Given the description of an element on the screen output the (x, y) to click on. 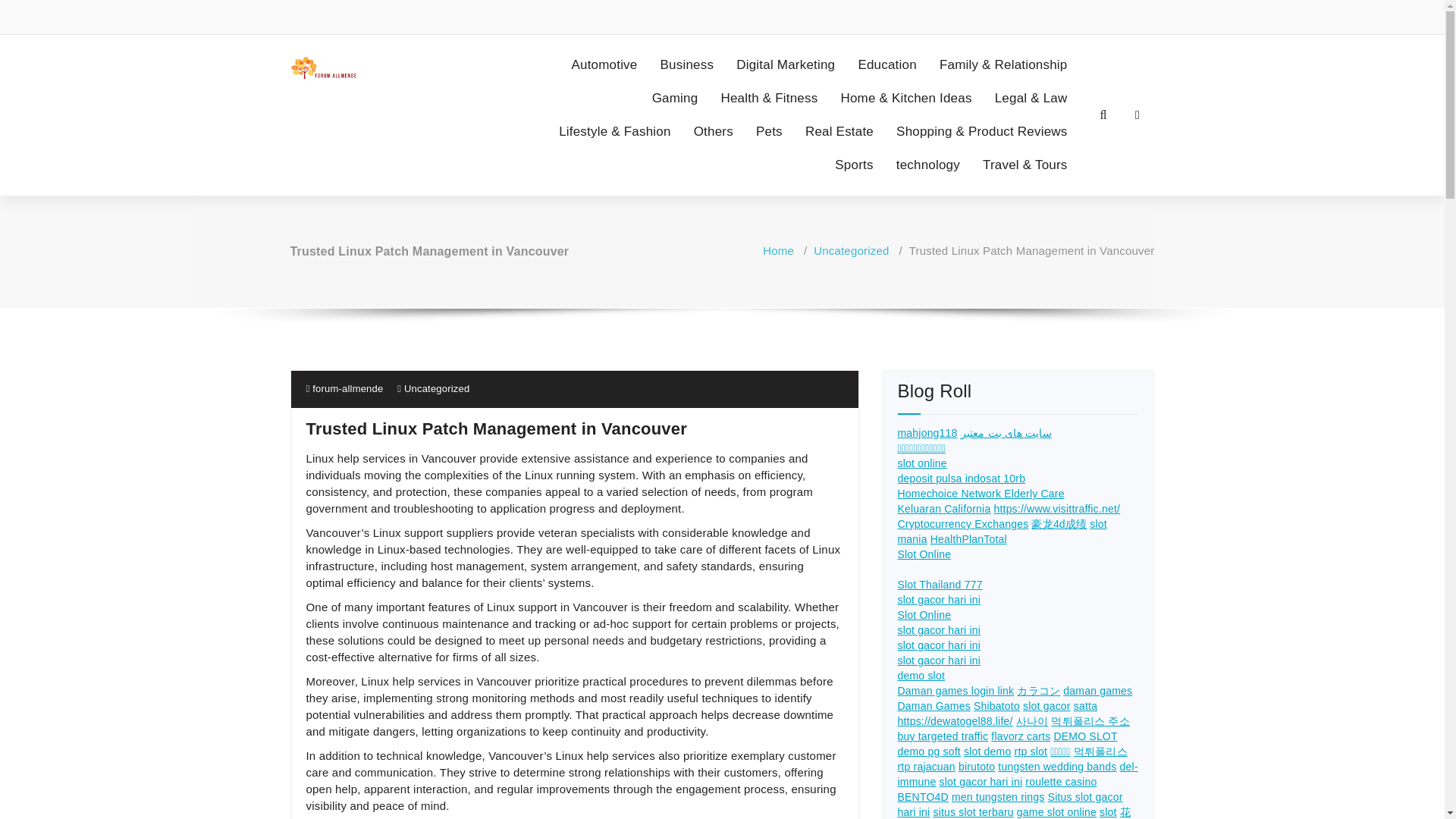
technology (928, 164)
Sports (853, 164)
Others (713, 131)
Automotive (603, 64)
Gaming (675, 98)
Real Estate (838, 131)
Pets (769, 131)
Digital Marketing (785, 64)
Business (687, 64)
Education (886, 64)
